Given the description of an element on the screen output the (x, y) to click on. 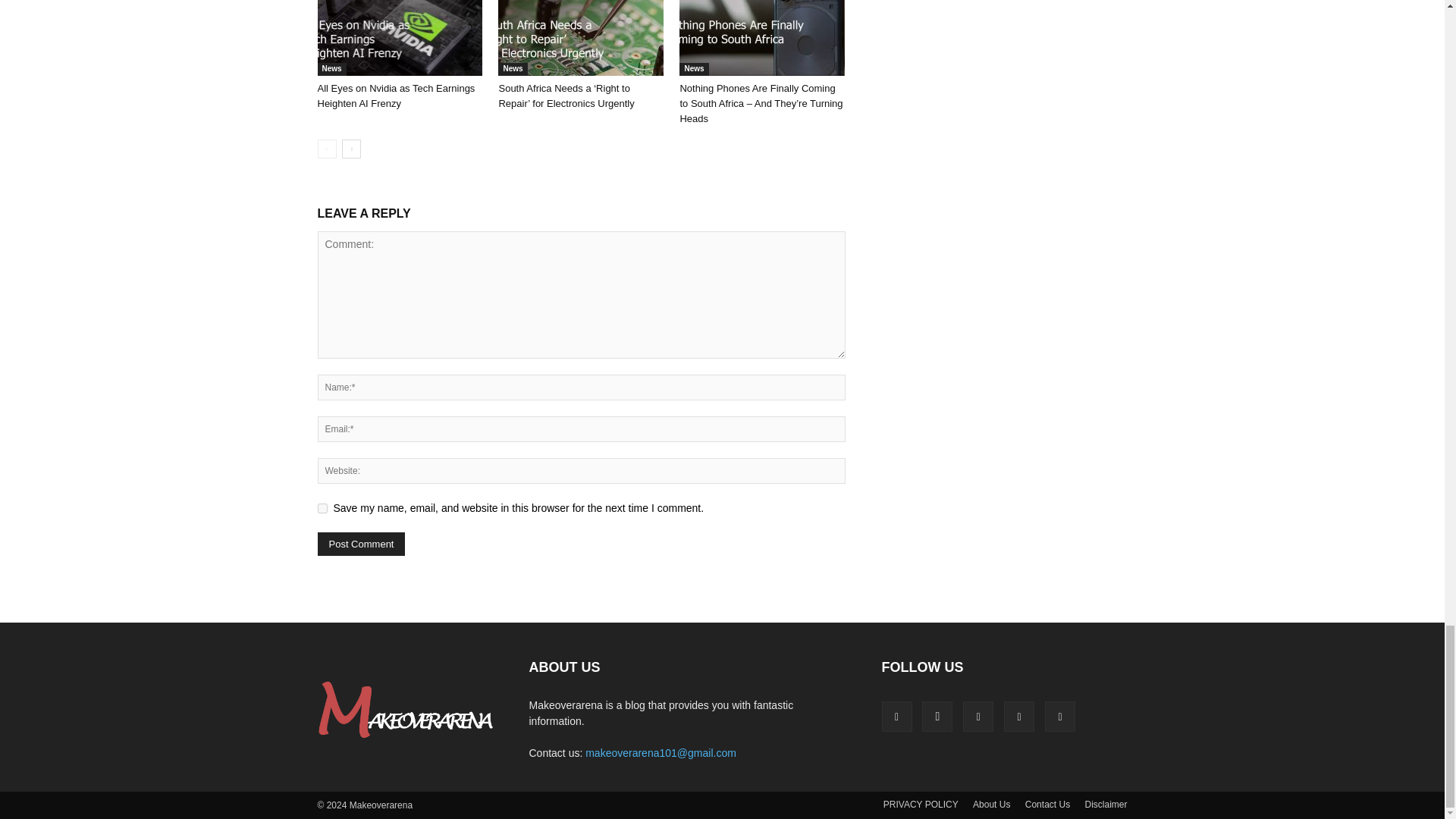
All Eyes on Nvidia as Tech Earnings Heighten AI Frenzy (399, 38)
Post Comment (360, 544)
yes (321, 508)
